Given the description of an element on the screen output the (x, y) to click on. 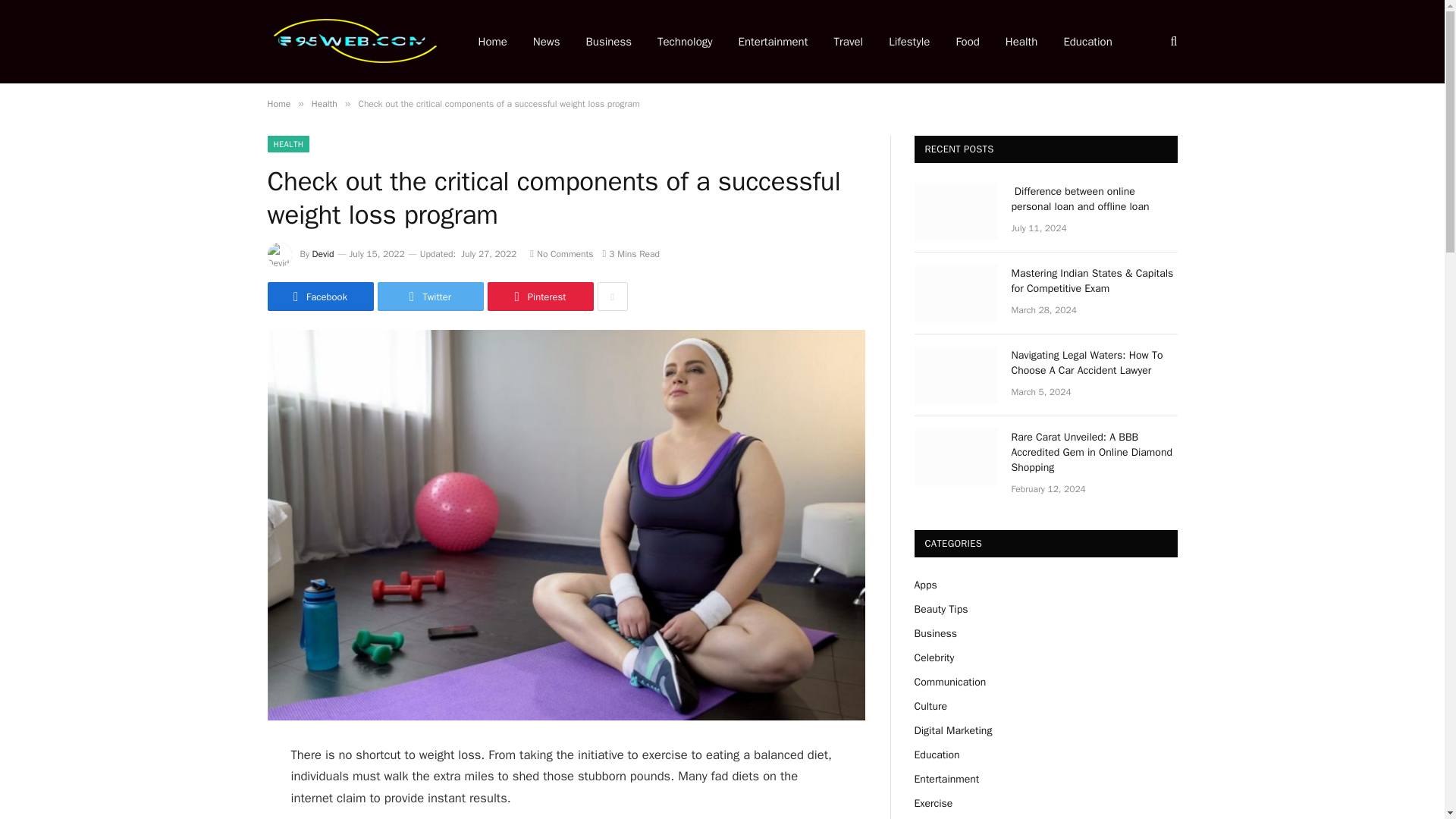
Share on Facebook (319, 296)
Show More Social Sharing (611, 296)
Facebook (319, 296)
Pinterest (539, 296)
HEALTH (287, 143)
Entertainment (773, 41)
Posts by Devid (323, 254)
Health (324, 103)
Technology (685, 41)
